Given the description of an element on the screen output the (x, y) to click on. 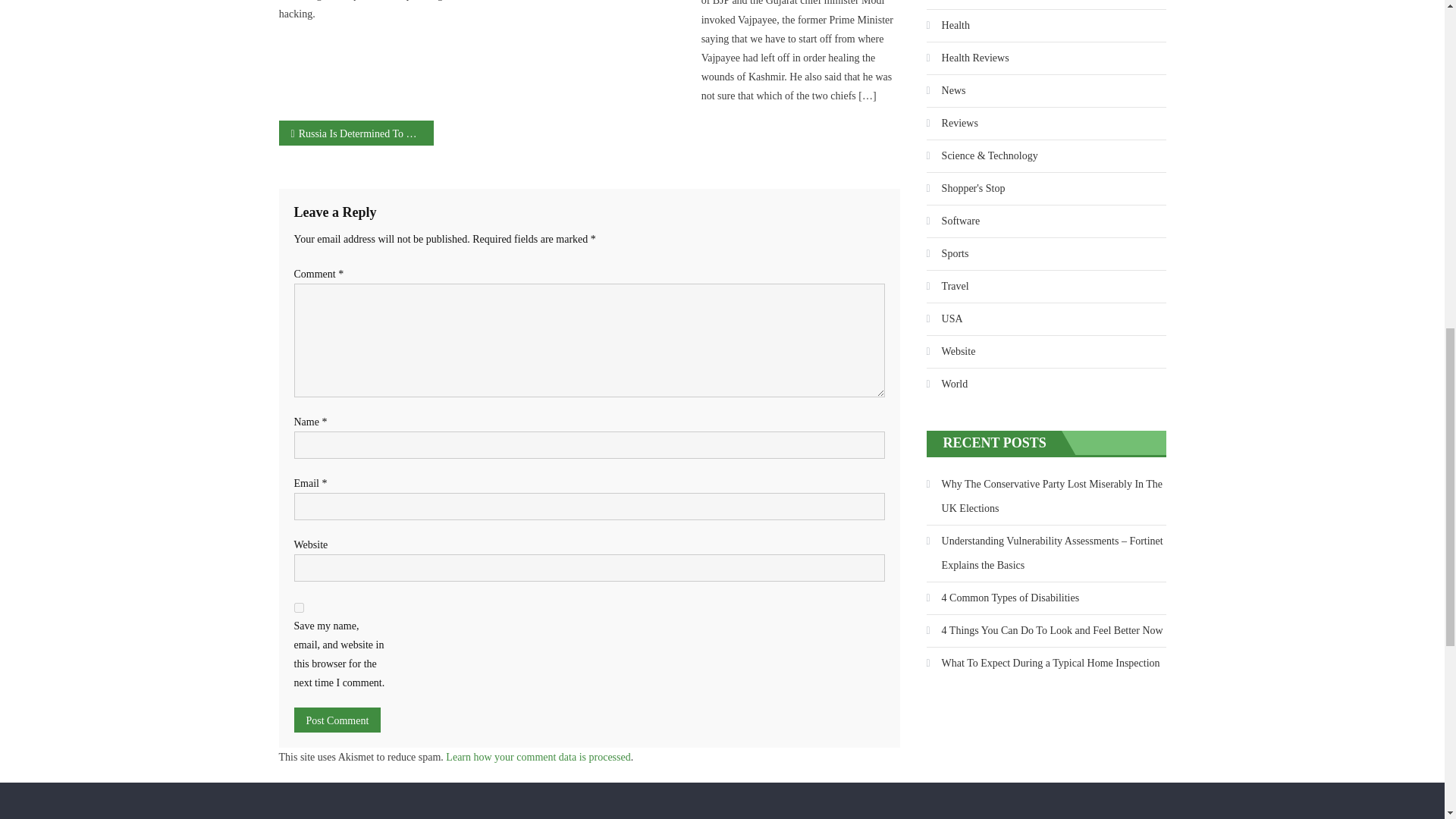
Post Comment (337, 719)
yes (299, 607)
Russia Is Determined To Keep Their Forces In Ukraine (356, 132)
Post Comment (337, 719)
